Given the description of an element on the screen output the (x, y) to click on. 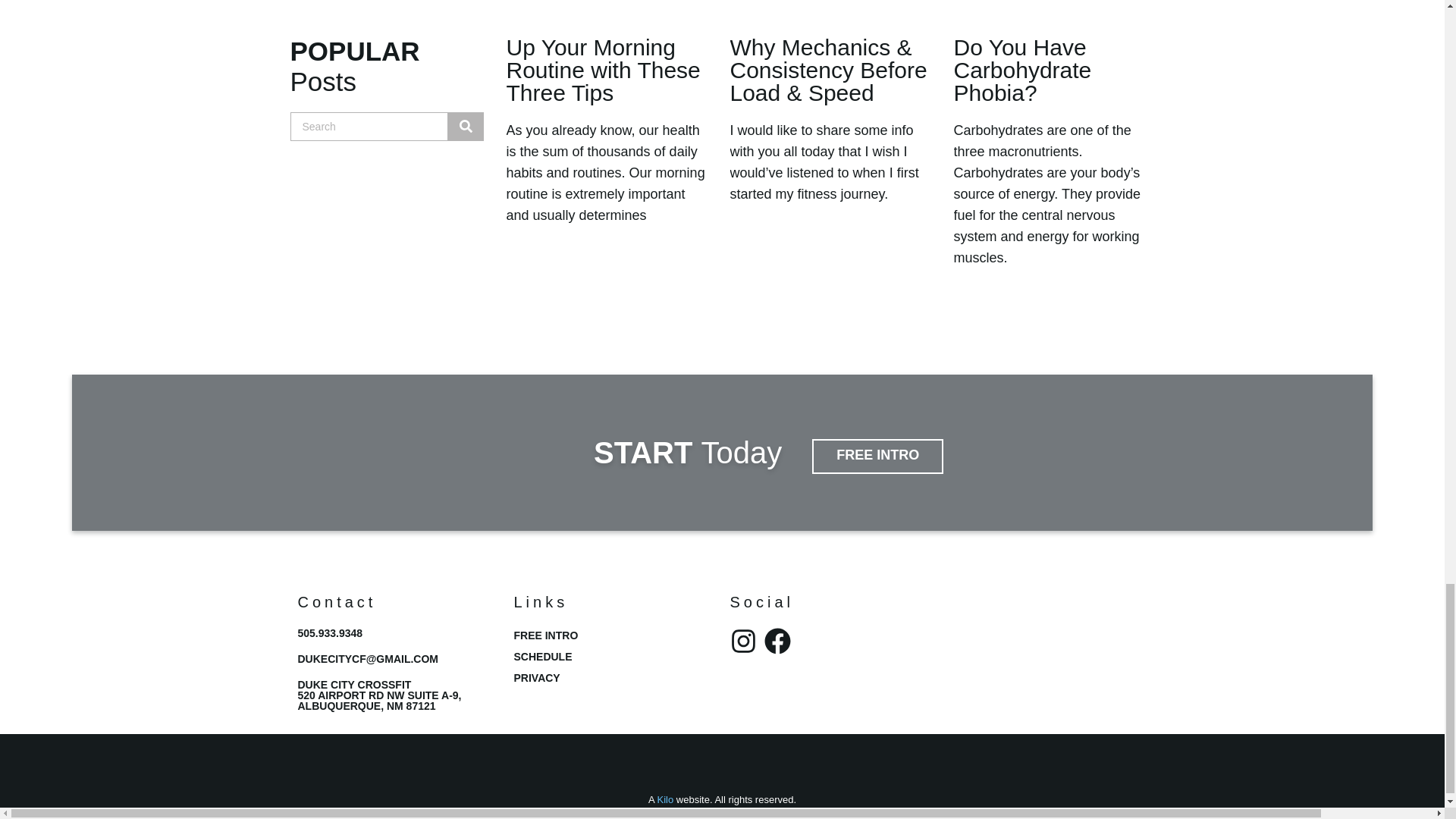
FREE INTRO (877, 456)
Do You Have Carbohydrate Phobia? (1022, 70)
505.933.9348 (329, 633)
Up Your Morning Routine with These Three Tips (603, 70)
PRIVACY (613, 677)
FREE INTRO (613, 635)
SCHEDULE (613, 656)
